Given the description of an element on the screen output the (x, y) to click on. 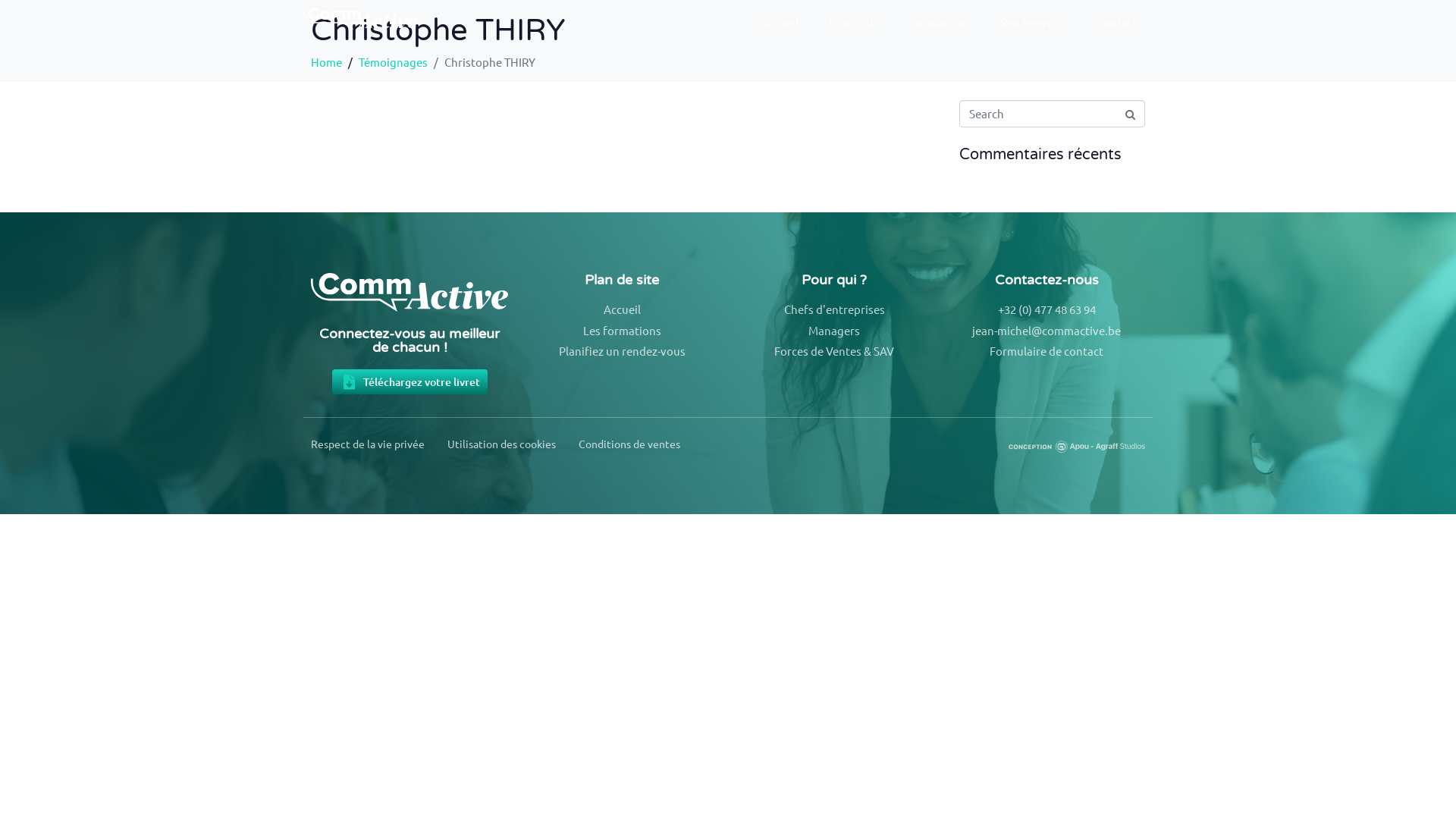
jean-michel@commactive.be Element type: text (1046, 330)
Chefs d'entreprises Element type: text (833, 308)
Accueil Element type: text (779, 22)
Pour qui ? Element type: text (853, 22)
Formulaire de contact Element type: text (1046, 350)
Forces de Ventes & SAV Element type: text (833, 350)
Contact Element type: text (1116, 22)
+32 (0) 477 48 63 94 Element type: text (1046, 308)
Planifiez un rendez-vous Element type: text (621, 350)
Rendez-vous Element type: text (1033, 22)
Managers Element type: text (833, 330)
Utilisation des cookies Element type: text (501, 444)
Home Element type: text (326, 61)
Formations Element type: text (939, 22)
Conditions de ventes Element type: text (629, 444)
Les formations Element type: text (621, 330)
Contactez-nous Element type: text (1046, 279)
Accueil Element type: text (621, 308)
